Given the description of an element on the screen output the (x, y) to click on. 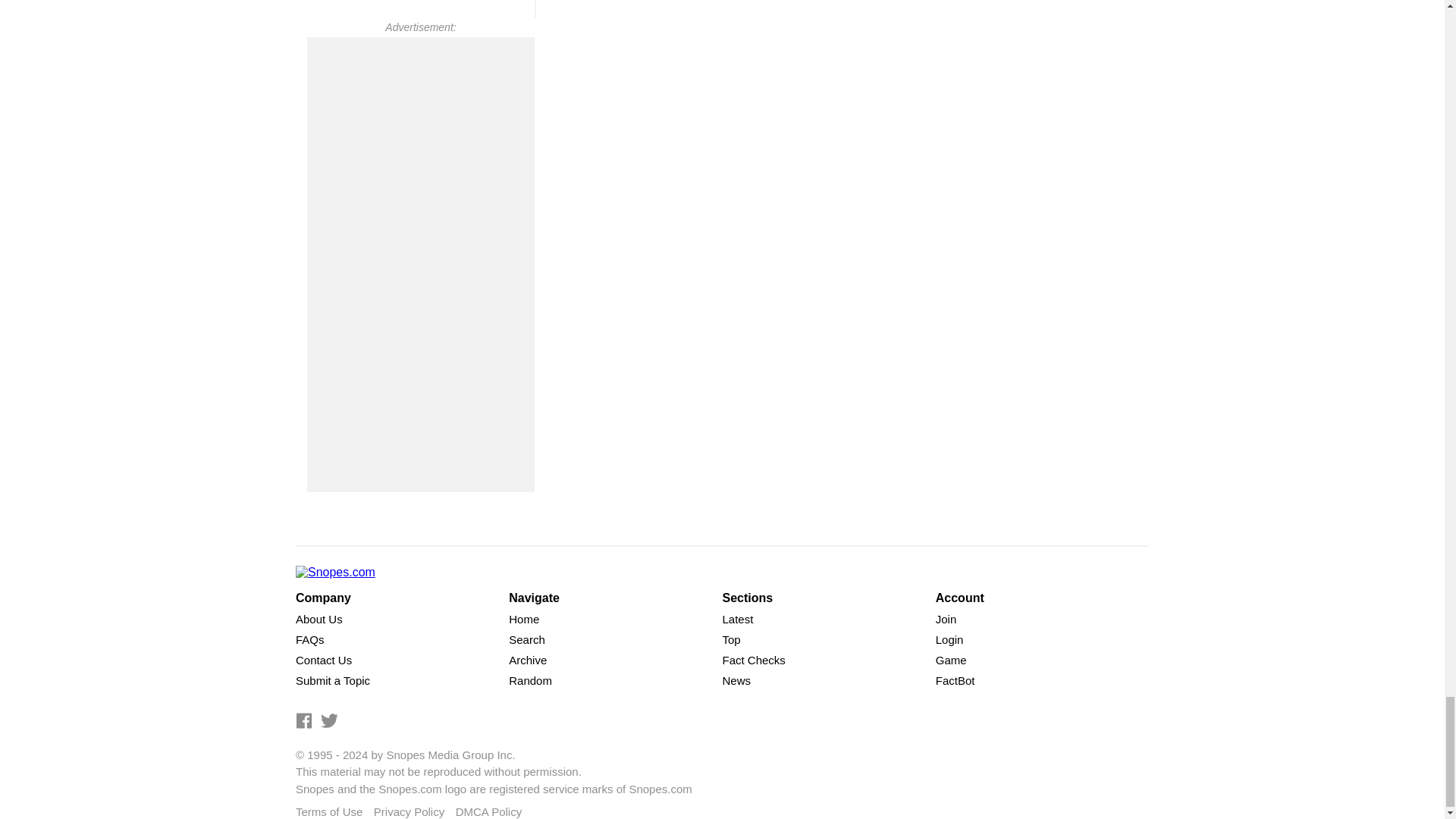
Submit a Topic (332, 680)
Contact Us (323, 659)
Archive (527, 659)
Search (526, 639)
About Us (318, 618)
Home (523, 618)
Top (730, 639)
Random (529, 680)
Fact Checks (753, 659)
Latest (737, 618)
FAQs (309, 639)
